Given the description of an element on the screen output the (x, y) to click on. 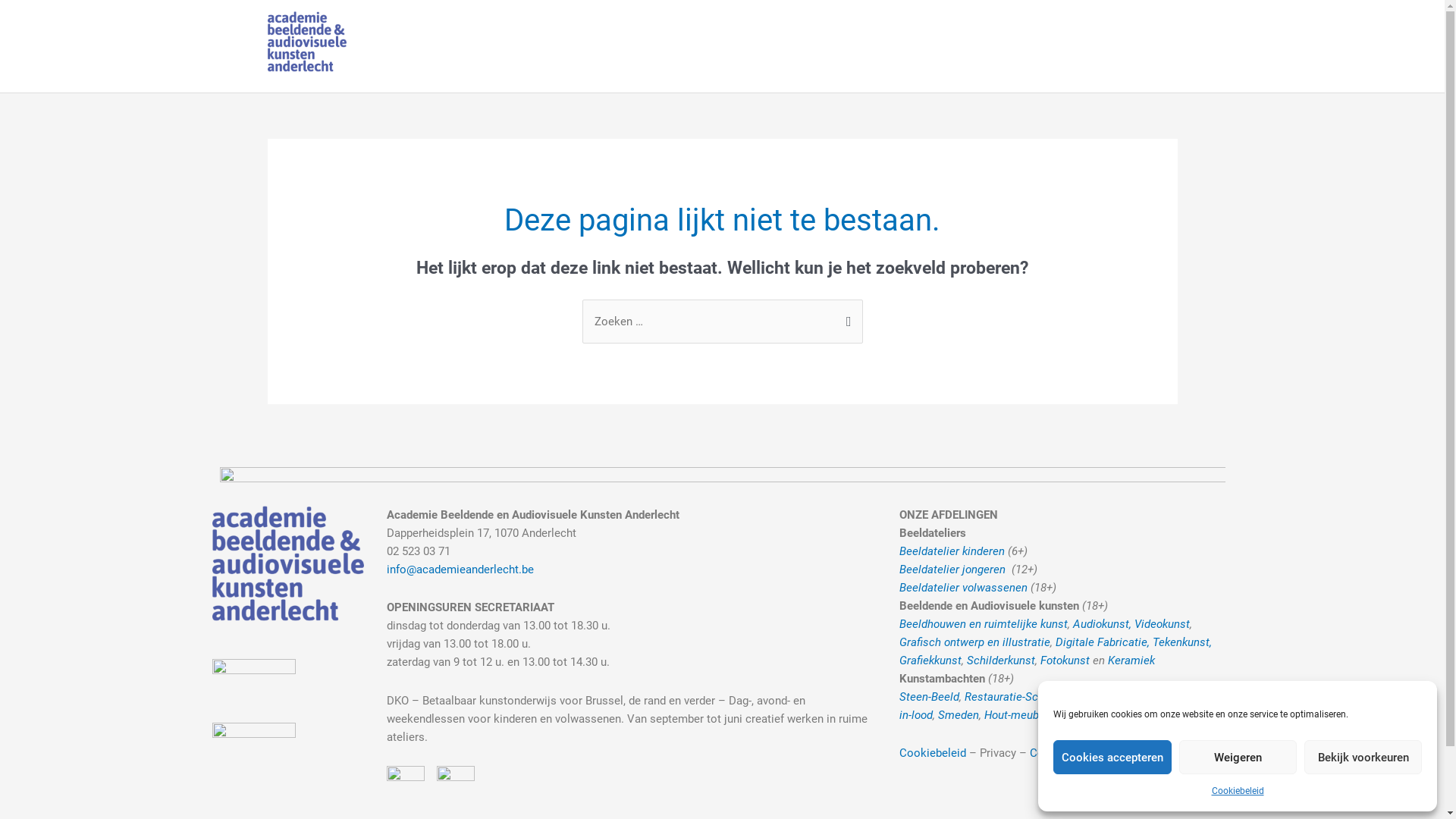
Beeldatelier kinderen Element type: text (951, 551)
Tekenkunst, Element type: text (1181, 642)
Polychromie Element type: text (1120, 696)
las-in-lood Element type: text (1060, 705)
Fotokunst Element type: text (1066, 660)
Textiel, Element type: text (1176, 696)
Keramiek Element type: text (1130, 660)
Audiokunst, Element type: text (1102, 623)
Beeldatelier volwassenen Element type: text (963, 587)
Restauratie-Schilderijen Element type: text (1024, 696)
Grafiekkunst Element type: text (930, 660)
info@academieanderlecht.be Element type: text (459, 569)
Beeldatelier jongeren Element type: text (952, 569)
Cookiebeleid Element type: text (932, 752)
Videokunst Element type: text (1161, 623)
Cookiebeleid Element type: text (1237, 790)
  Element type: text (1006, 569)
Schilderkunst Element type: text (1000, 660)
Grafisch ontwerp en illustratie Element type: text (974, 642)
Hout-meubel Element type: text (1017, 714)
G Element type: text (1199, 696)
Beeldhouwen en ruimtelijke kunst Element type: text (983, 623)
Digitale Fabricatie, Element type: text (1102, 642)
Bekijk voorkeuren Element type: text (1362, 757)
Zoeken Element type: text (845, 314)
Steen-Beeld Element type: text (929, 696)
Cookies accepteren Element type: text (1112, 757)
Smeden Element type: text (958, 714)
Weigeren Element type: text (1237, 757)
Colofon Element type: text (1049, 752)
